Given the description of an element on the screen output the (x, y) to click on. 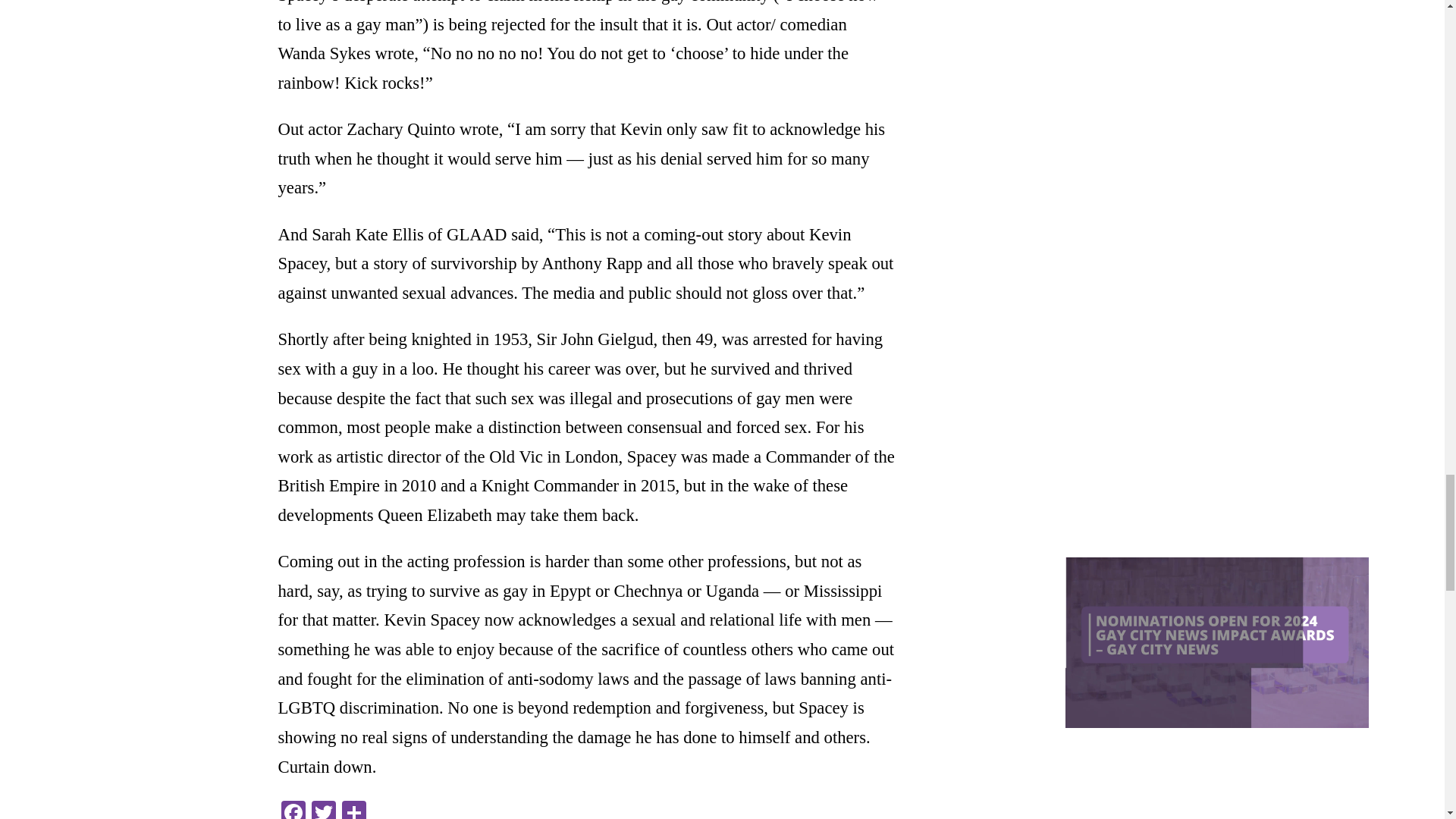
Facebook (292, 809)
